Given the description of an element on the screen output the (x, y) to click on. 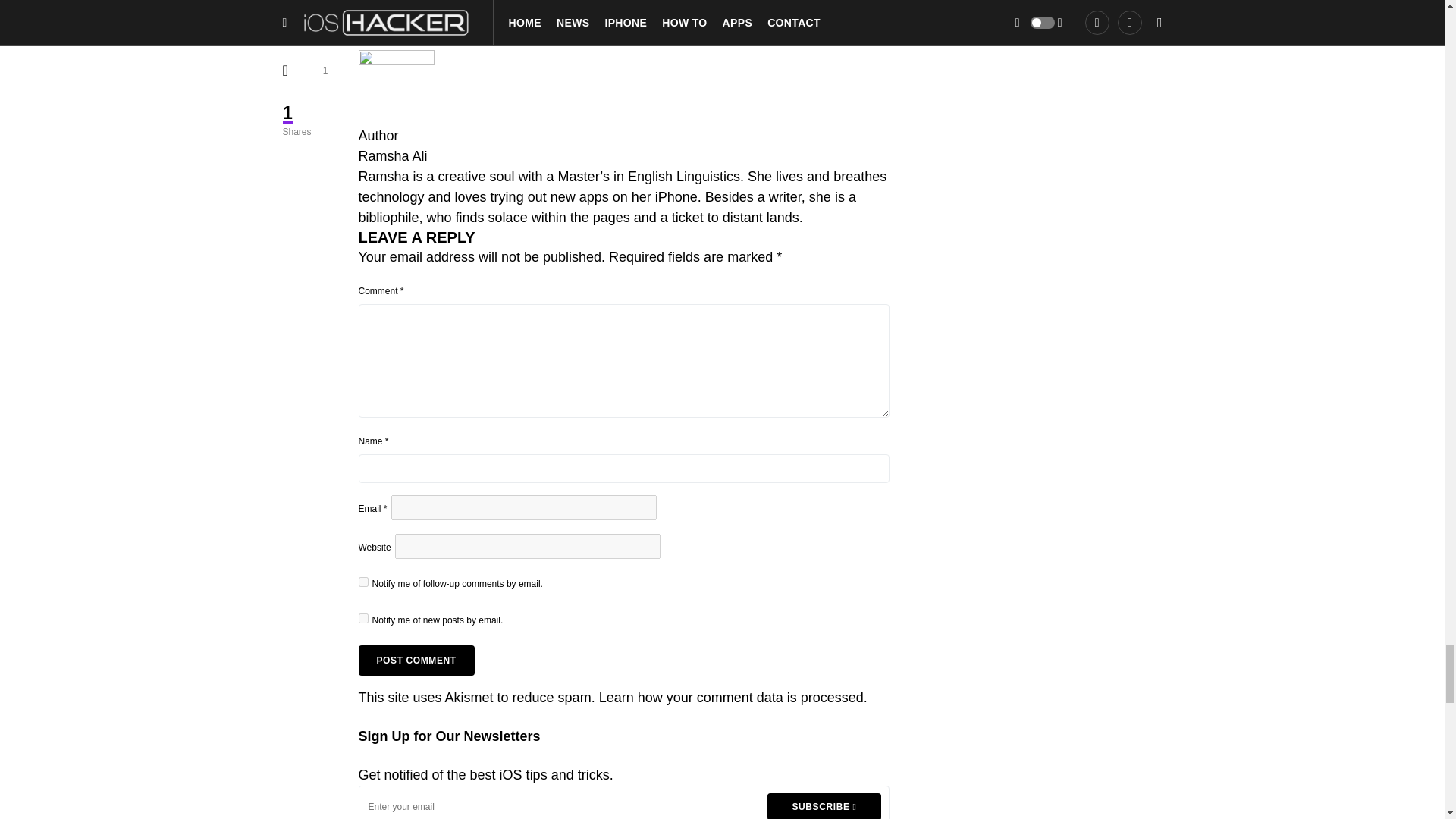
Post Comment (416, 660)
subscribe (363, 582)
subscribe (363, 618)
